Given the description of an element on the screen output the (x, y) to click on. 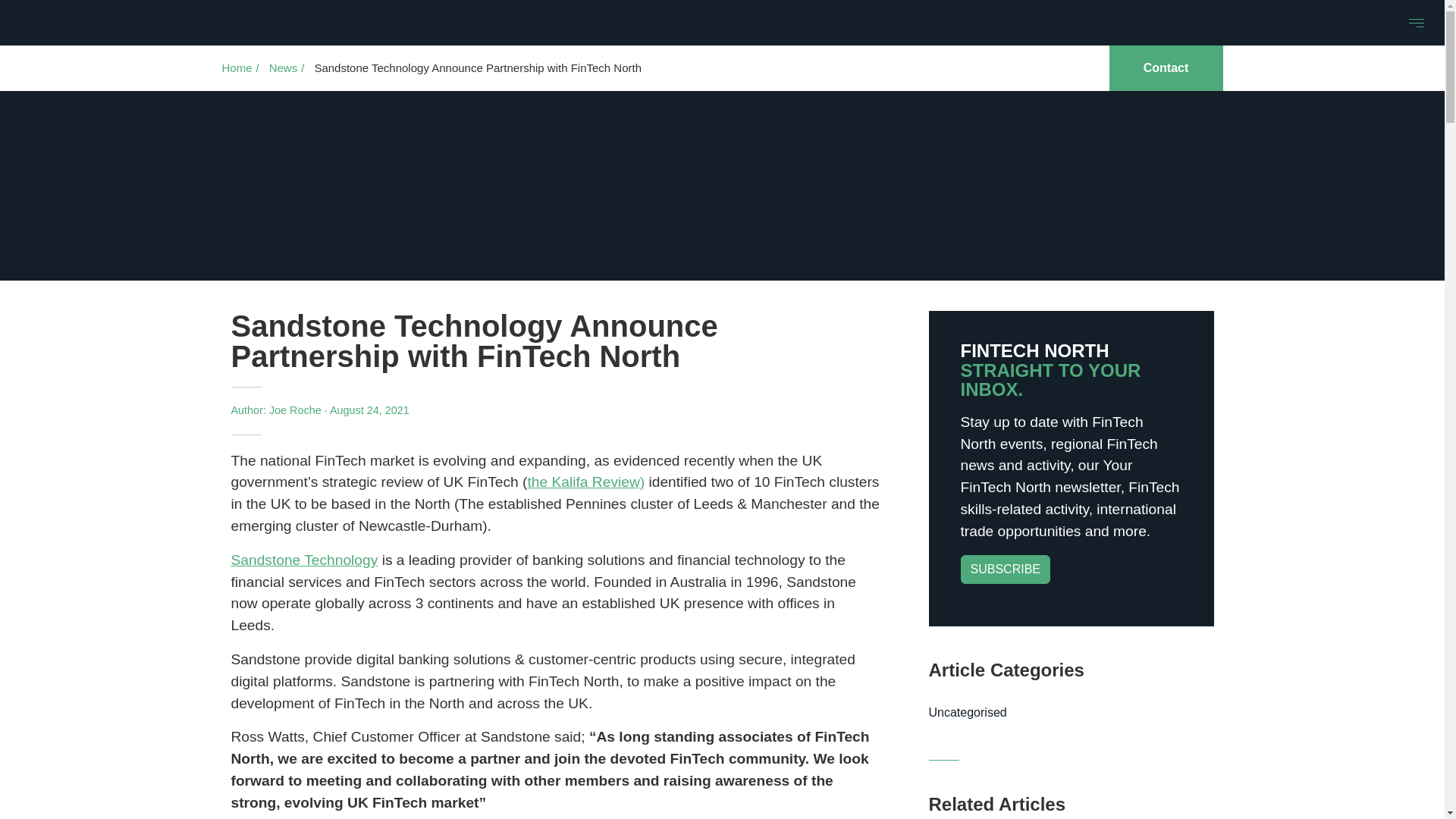
Home (236, 67)
Sandstone Technology (303, 560)
SUBSCRIBE (1004, 569)
Contact (1165, 67)
News (283, 67)
Uncategorised (1071, 712)
